Given the description of an element on the screen output the (x, y) to click on. 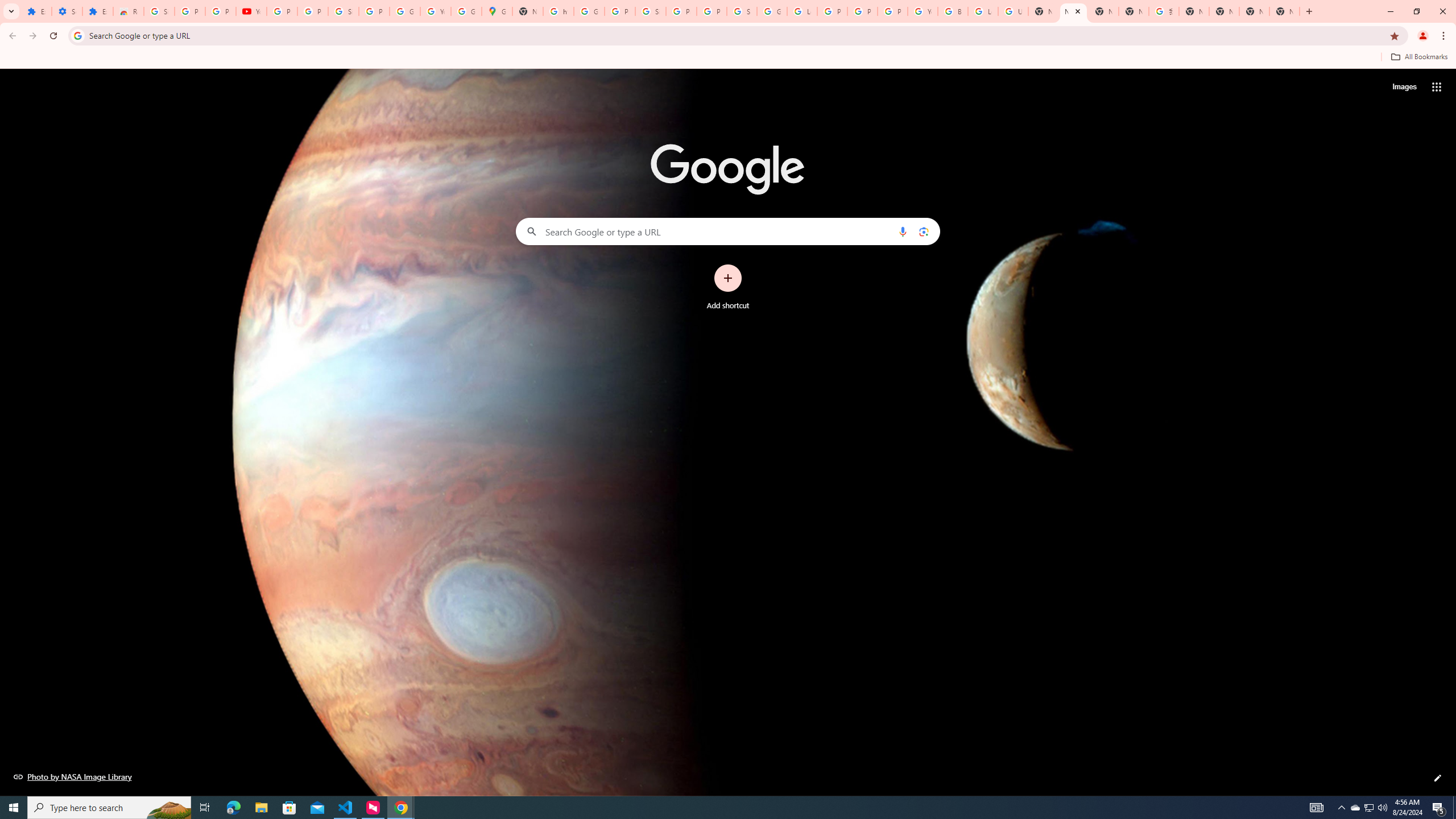
Privacy Help Center - Policies Help (862, 11)
Back (10, 35)
Reviews: Helix Fruit Jump Arcade Game (127, 11)
Bookmarks (728, 58)
Search by voice (902, 230)
Search icon (77, 35)
YouTube (251, 11)
Close (1078, 11)
Search tabs (10, 11)
Browse Chrome as a guest - Computer - Google Chrome Help (952, 11)
New Tab (1309, 11)
